Given the description of an element on the screen output the (x, y) to click on. 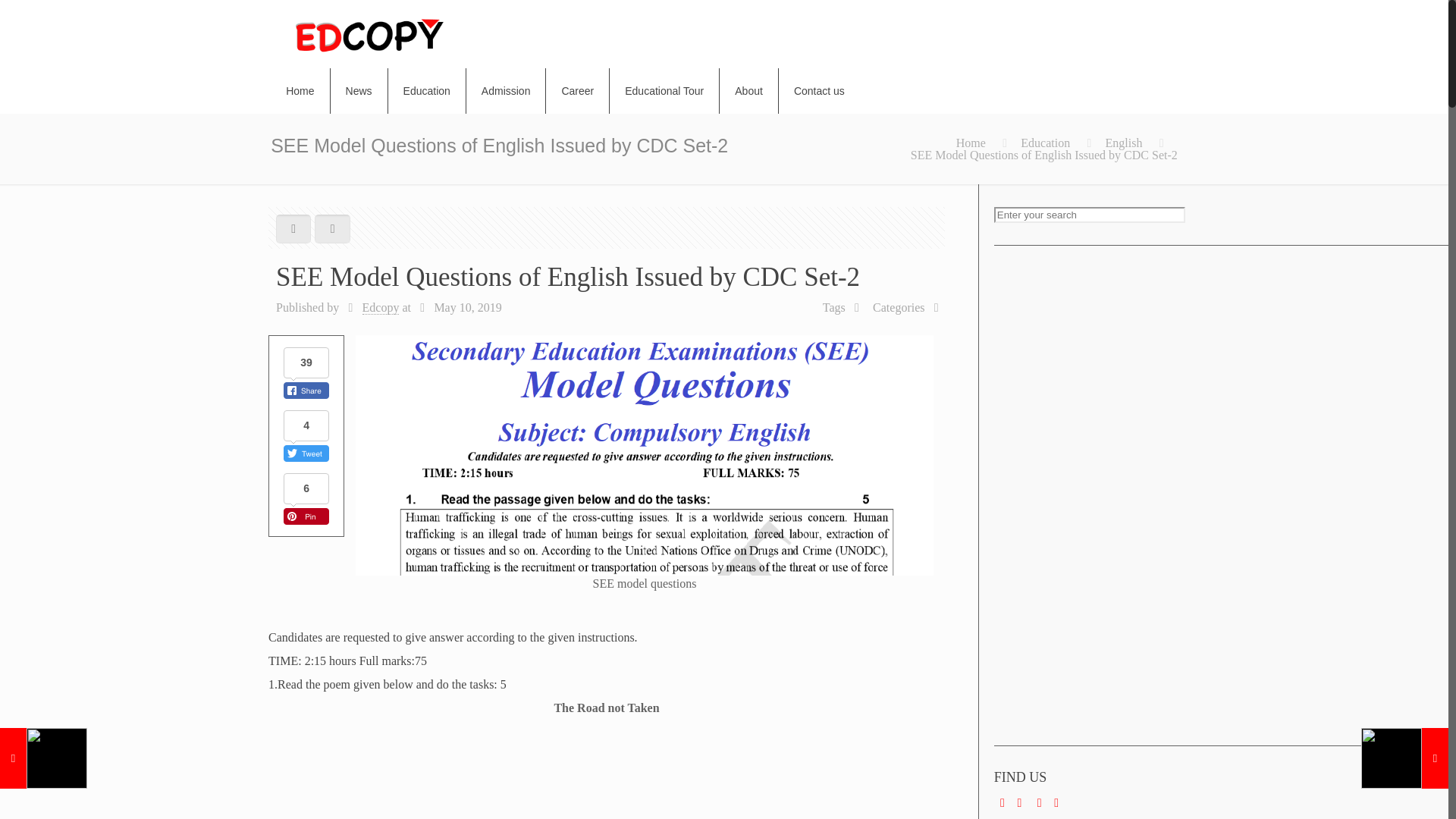
Advertisement (609, 772)
Edcopy (380, 307)
Admission (506, 90)
About (748, 90)
Advertisement (1085, 495)
Home (300, 90)
News (359, 90)
Contact us (819, 90)
Education (426, 90)
English (1123, 142)
Home (970, 142)
Education (1045, 142)
Career (578, 90)
Educational Tour (664, 90)
EDCOPY.COM (369, 33)
